Given the description of an element on the screen output the (x, y) to click on. 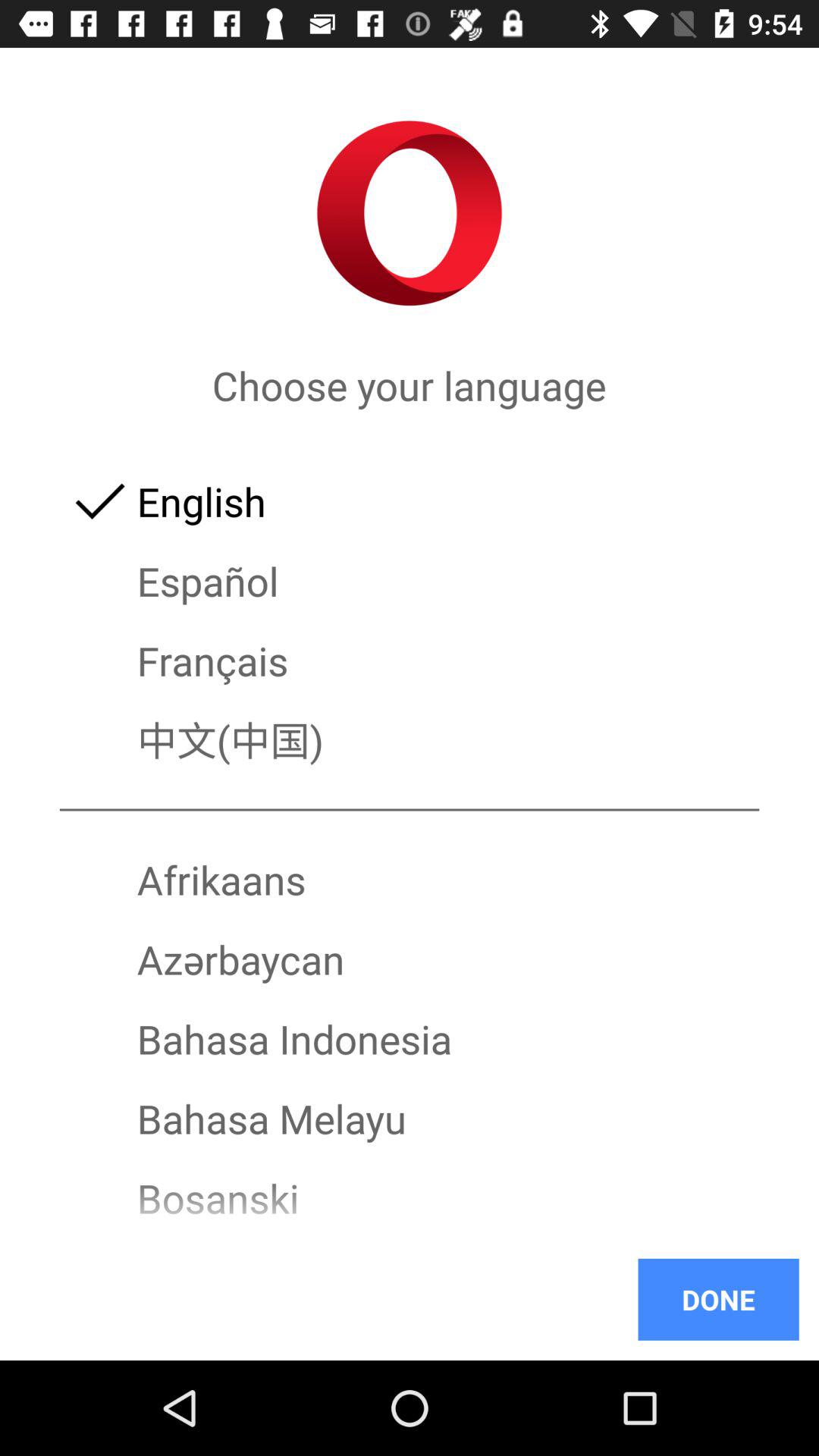
launch the item at the bottom right corner (718, 1299)
